Given the description of an element on the screen output the (x, y) to click on. 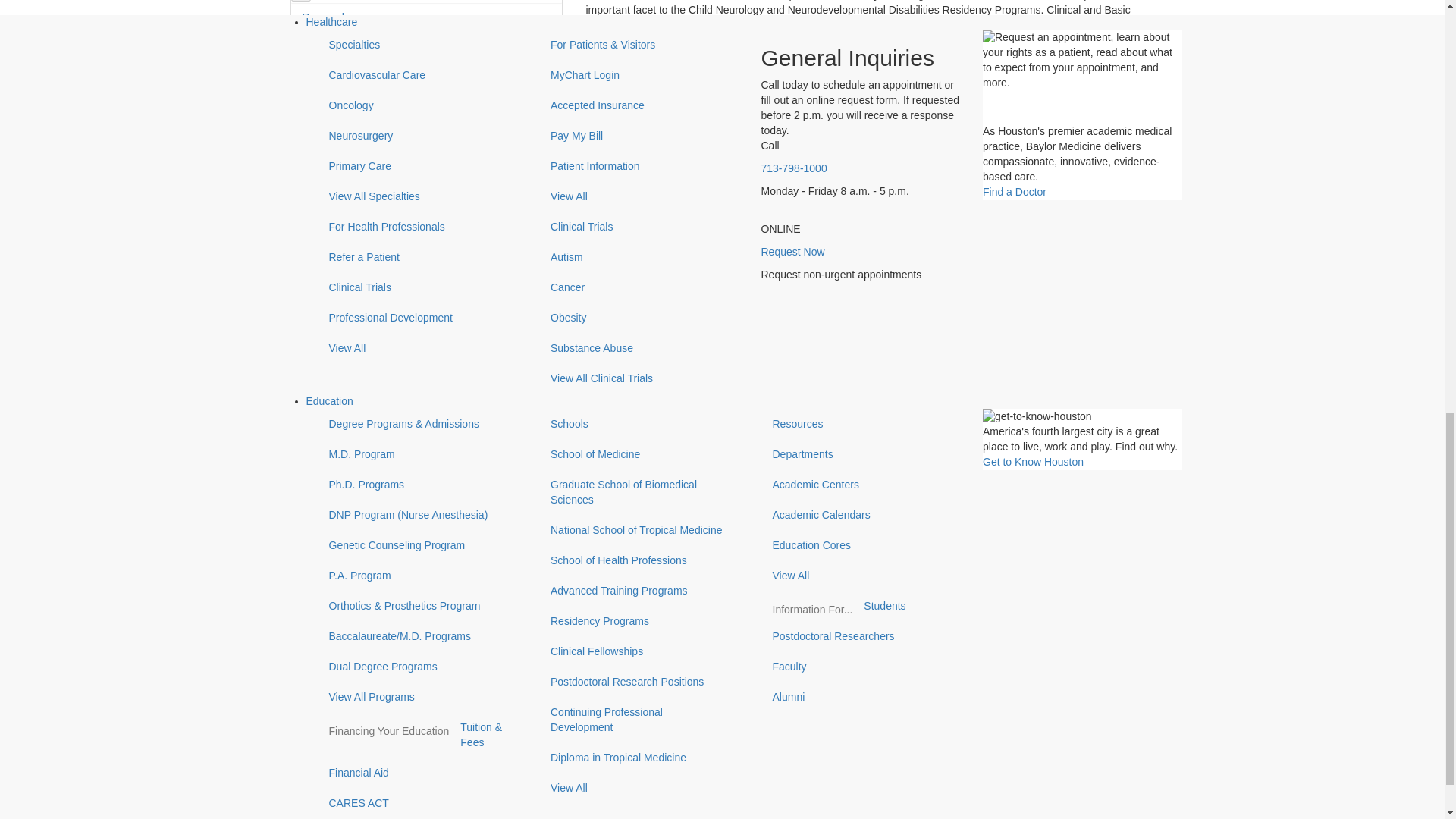
Web Request (372, 680)
facebook (317, 480)
